Given the description of an element on the screen output the (x, y) to click on. 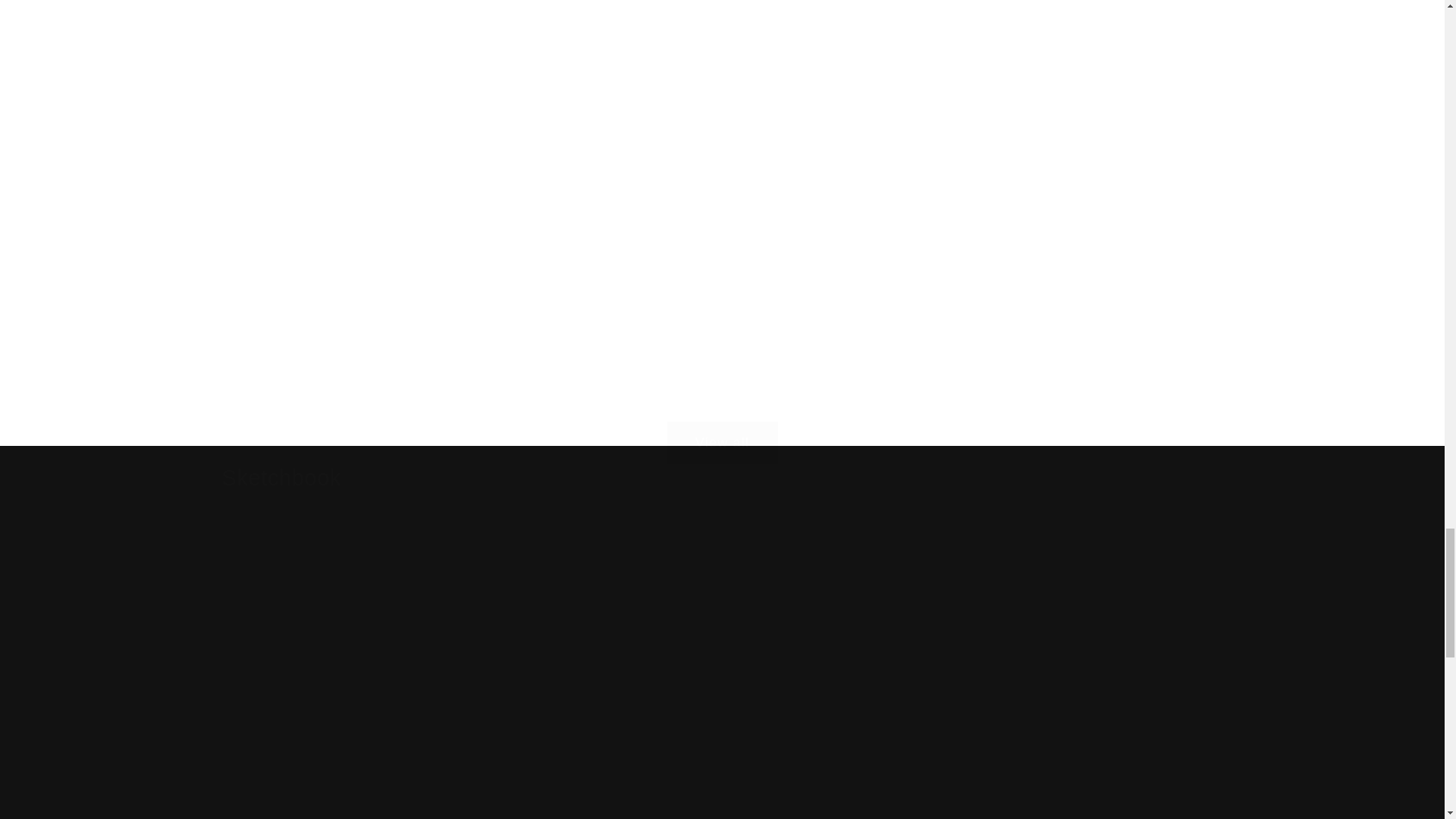
Sketchbook (280, 478)
View all (722, 419)
